Given the description of an element on the screen output the (x, y) to click on. 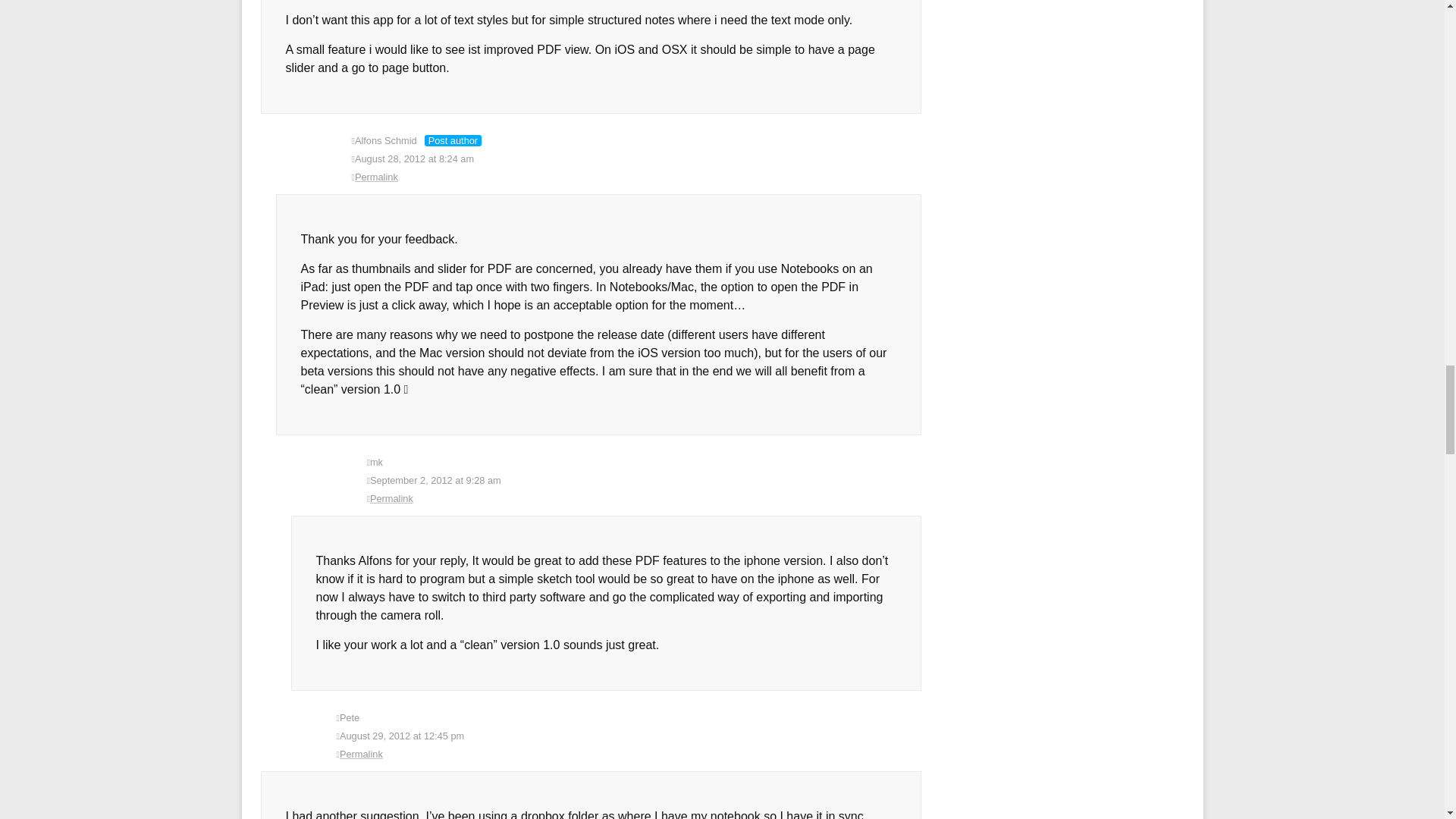
Permalink (628, 754)
Permalink (643, 498)
Permalink (636, 177)
